Given the description of an element on the screen output the (x, y) to click on. 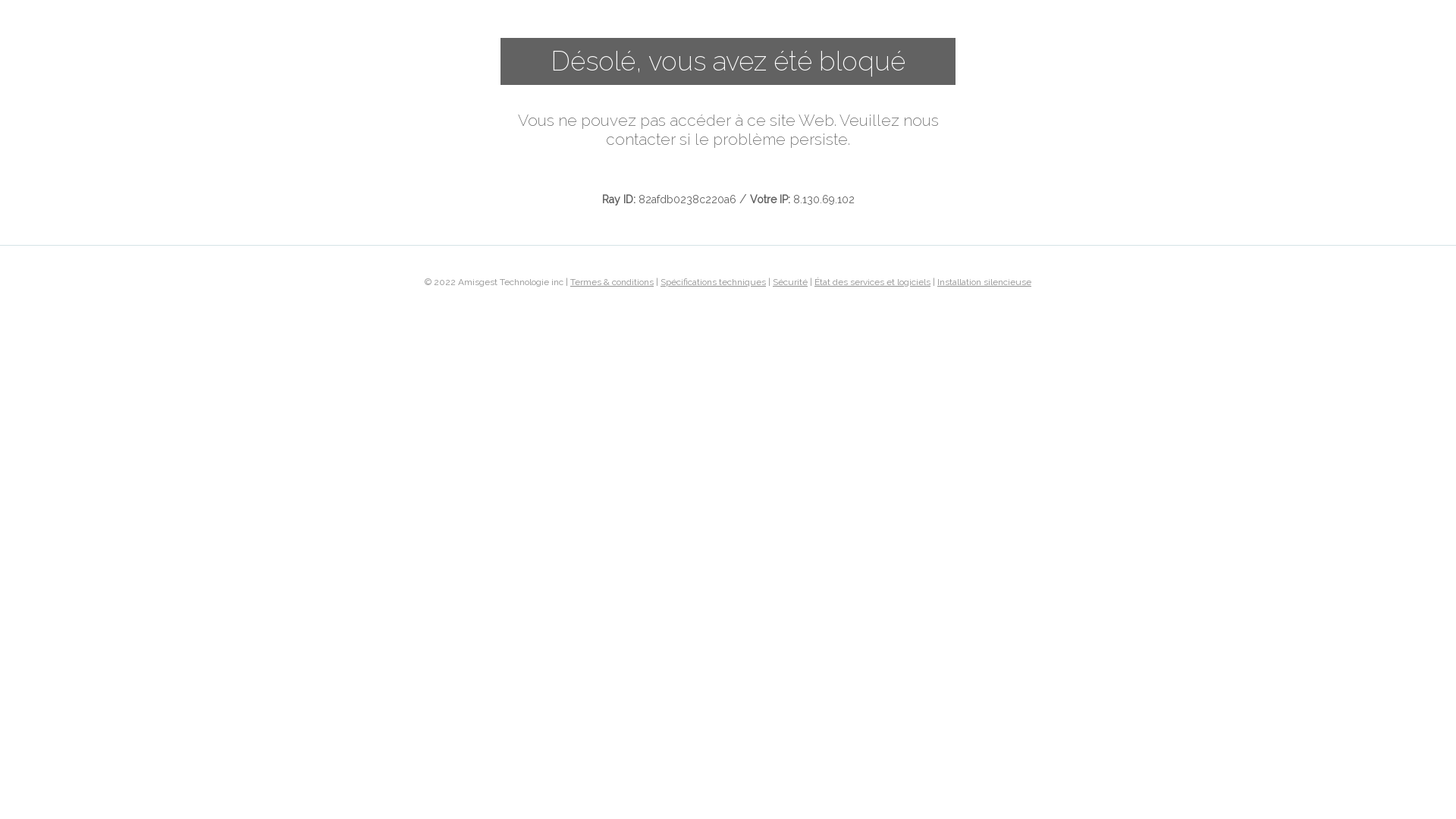
Termes & conditions Element type: text (611, 281)
Installation silencieuse Element type: text (984, 281)
